Given the description of an element on the screen output the (x, y) to click on. 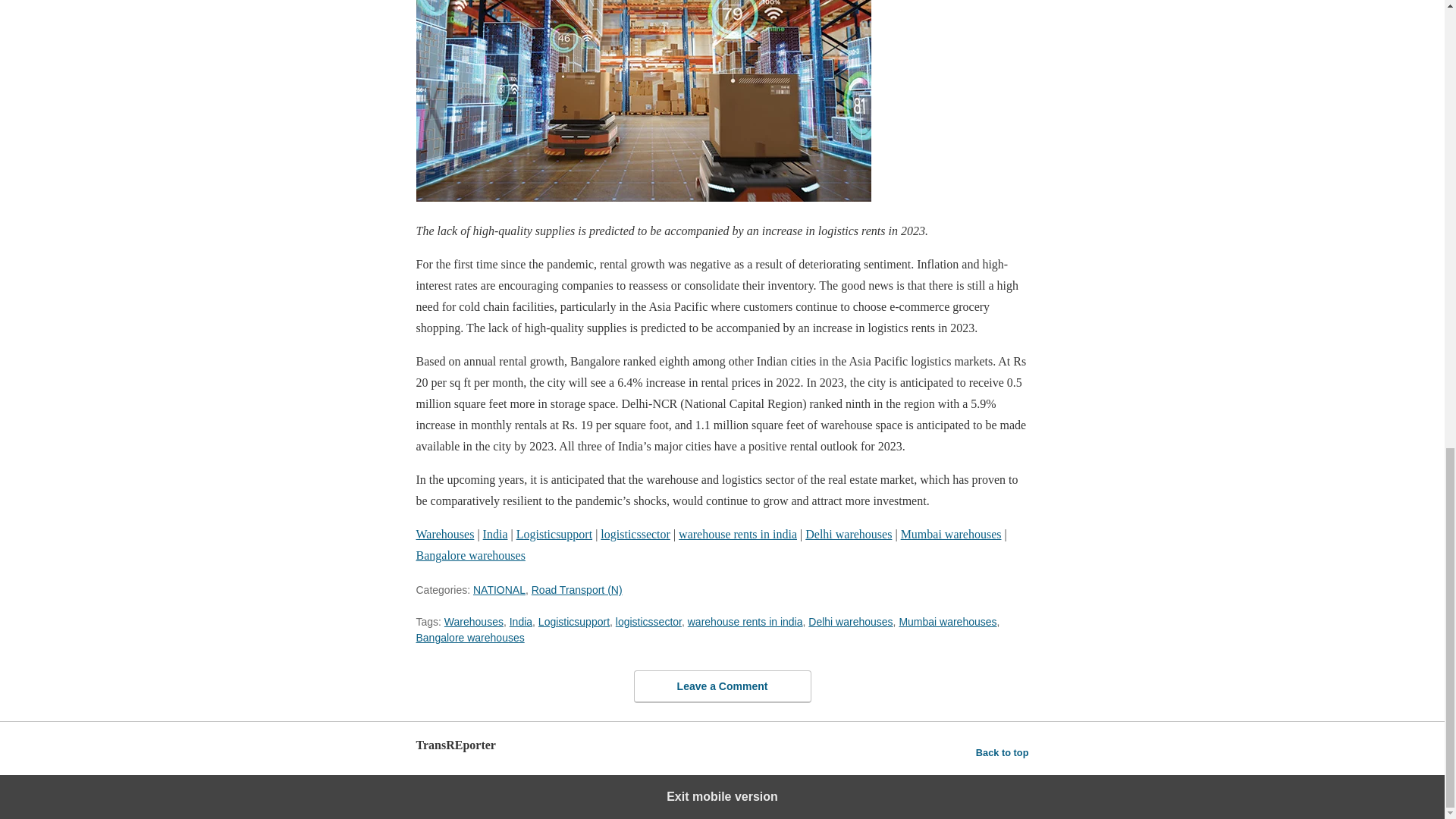
logisticssector (634, 533)
Mumbai warehouses (946, 621)
Bangalore warehouses (469, 554)
Back to top (1002, 752)
NATIONAL (499, 589)
Delhi warehouses (848, 533)
logisticssector (648, 621)
Logisticsupport (554, 533)
Leave a Comment (721, 685)
warehouse rents in india (737, 533)
Mumbai warehouses (951, 533)
India (520, 621)
warehouse rents in india (745, 621)
Warehouses (444, 533)
Warehouses (473, 621)
